Given the description of an element on the screen output the (x, y) to click on. 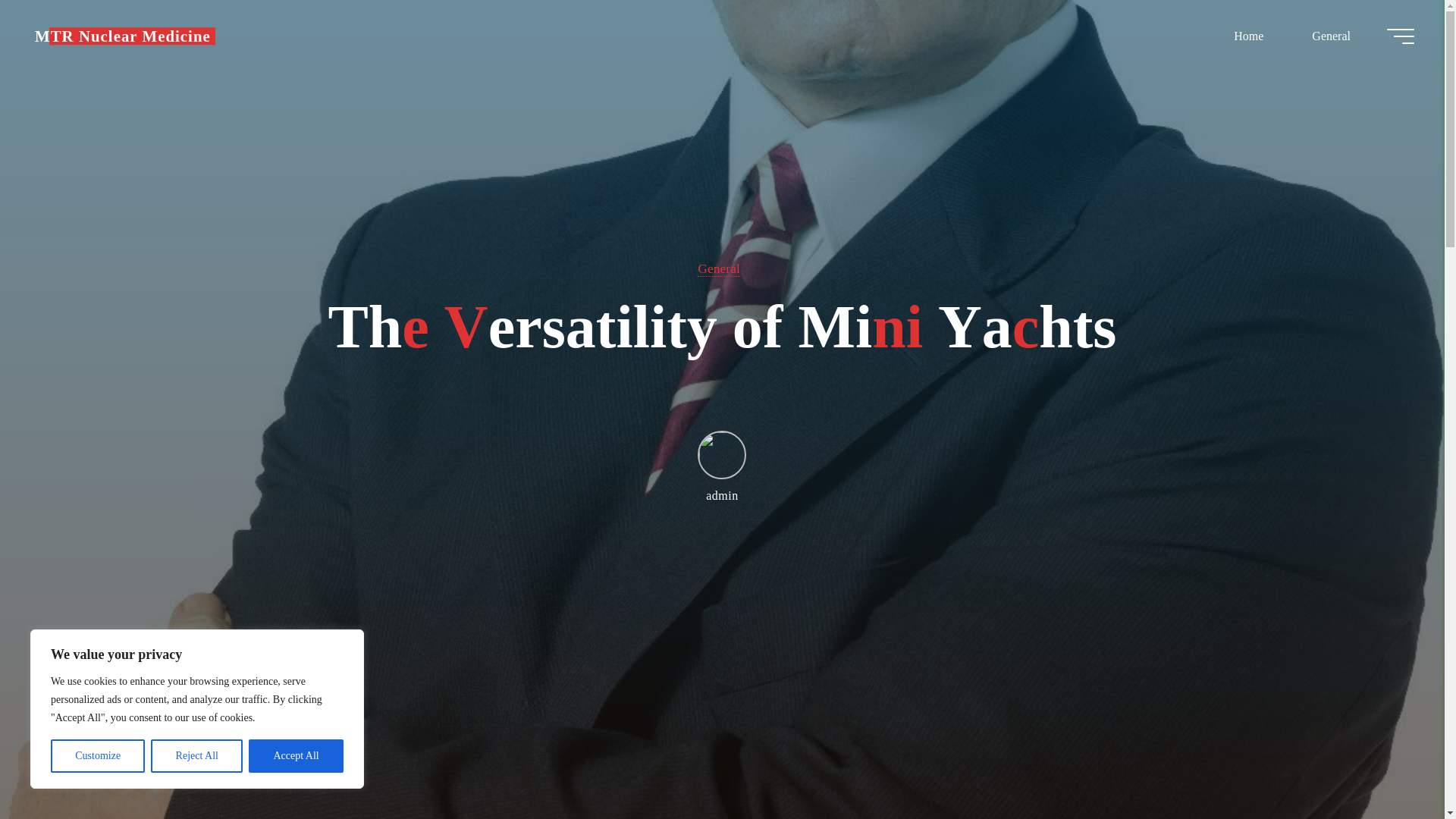
General (1330, 35)
Read more (721, 724)
MTR Nuclear Medicine (122, 36)
General (718, 268)
Accept All (295, 756)
Blog (122, 36)
Customize (97, 756)
Home (1248, 35)
Reject All (197, 756)
